Given the description of an element on the screen output the (x, y) to click on. 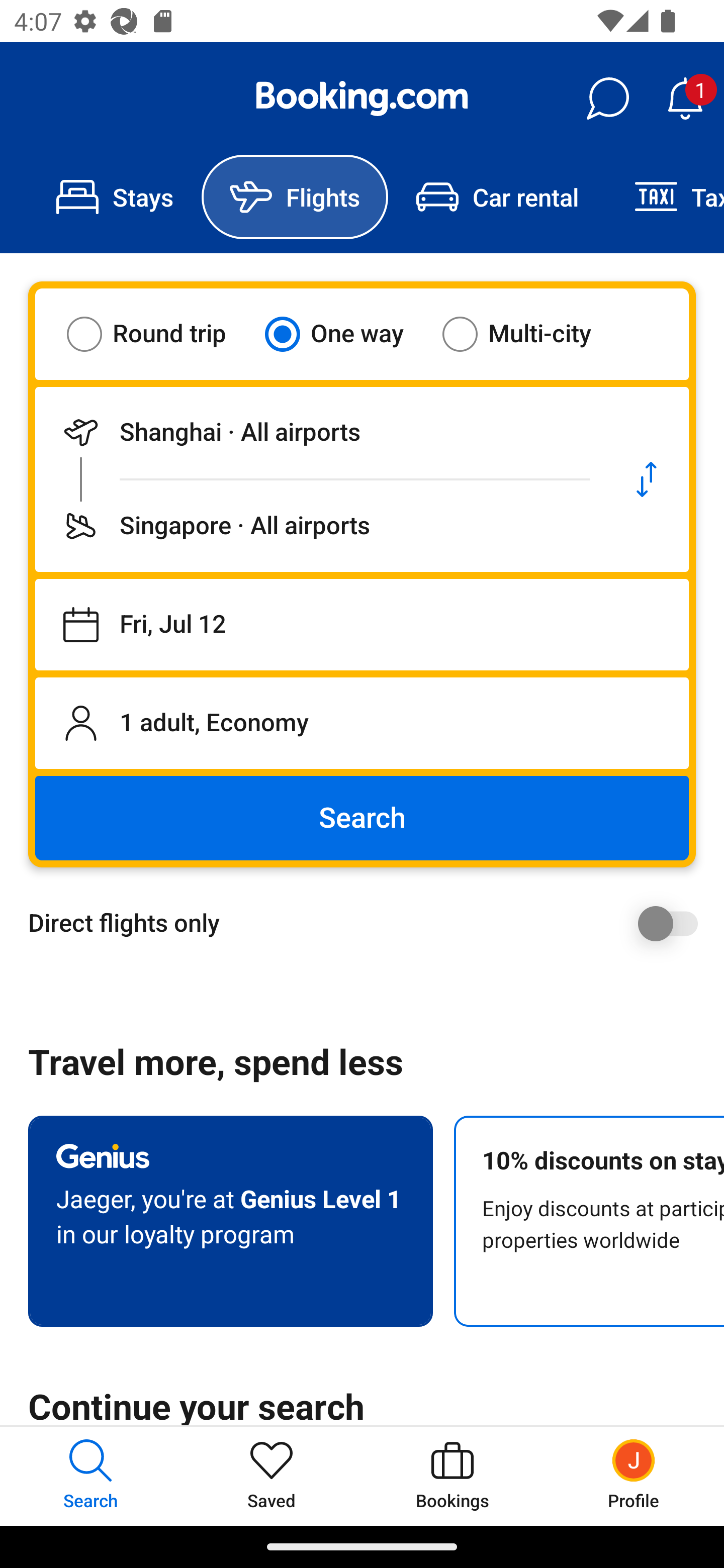
Messages (607, 98)
Notifications (685, 98)
Stays (114, 197)
Flights (294, 197)
Car rental (497, 197)
Taxi (665, 197)
Round trip (158, 333)
Multi-city (528, 333)
Departing from Shanghai · All airports (319, 432)
Swap departure location and destination (646, 479)
Flying to Singapore · All airports (319, 525)
Departing on Fri, Jul 12 (361, 624)
1 adult, Economy (361, 722)
Search (361, 818)
Direct flights only (369, 923)
Saved (271, 1475)
Bookings (452, 1475)
Profile (633, 1475)
